Given the description of an element on the screen output the (x, y) to click on. 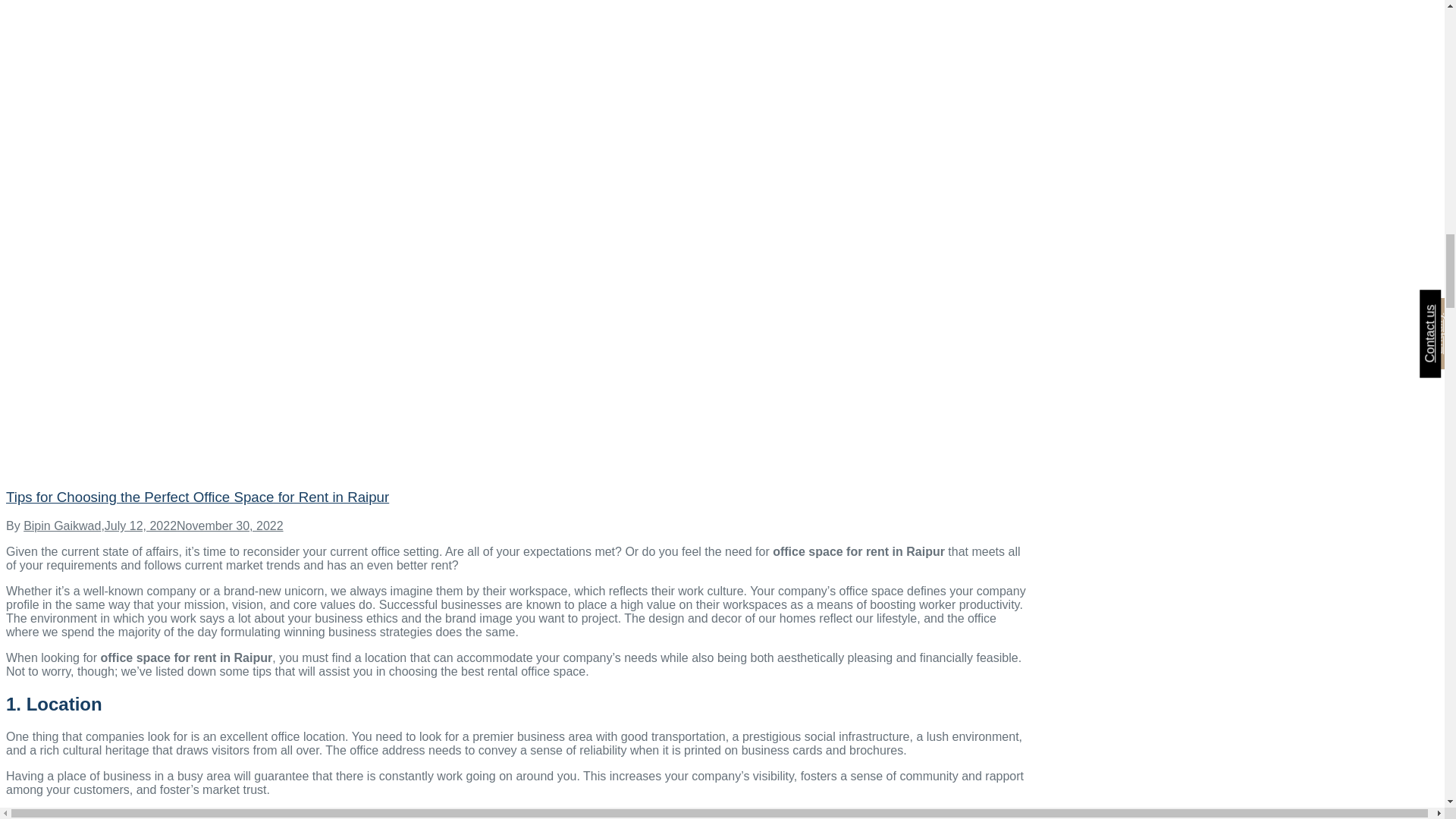
Bipin Gaikwad (61, 525)
July 12, 2022November 30, 2022 (193, 525)
